Given the description of an element on the screen output the (x, y) to click on. 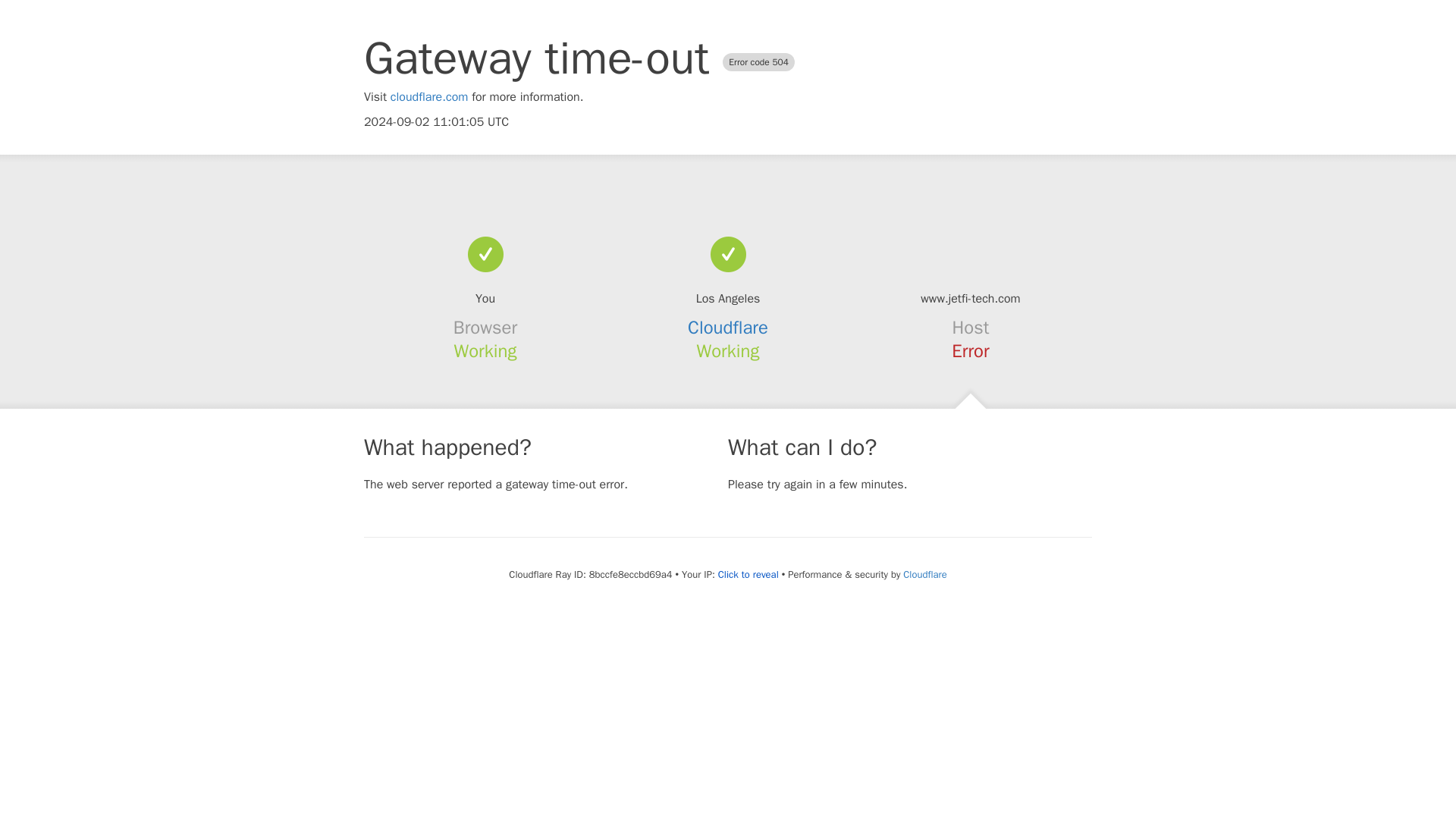
Cloudflare (924, 574)
Cloudflare (727, 327)
Click to reveal (747, 574)
cloudflare.com (429, 96)
